Given the description of an element on the screen output the (x, y) to click on. 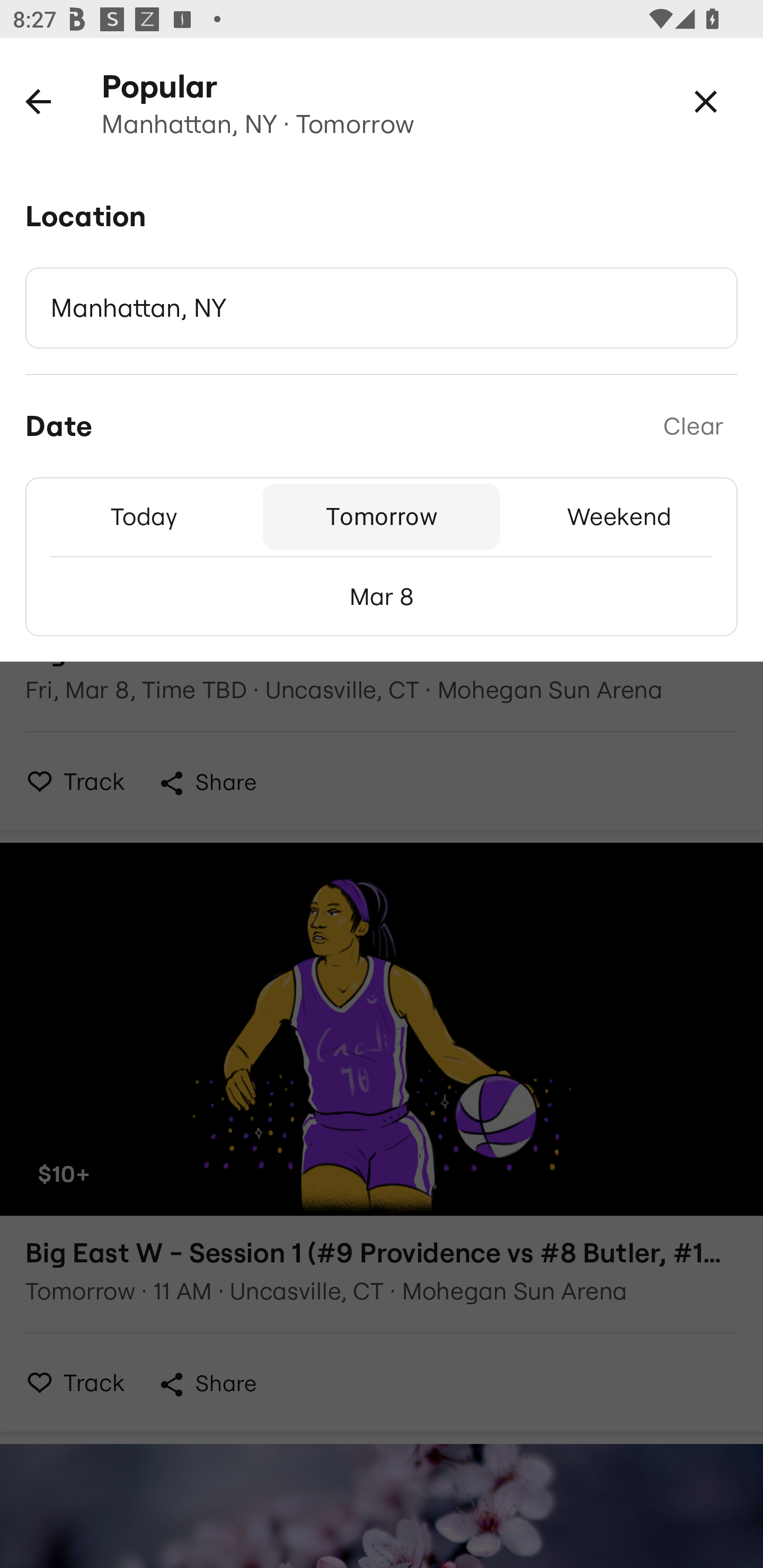
Back (38, 100)
Close (705, 100)
Manhattan, NY (381, 308)
Clear (693, 426)
Today (143, 516)
Tomorrow (381, 516)
Weekend (618, 516)
Mar 8 (381, 596)
